Given the description of an element on the screen output the (x, y) to click on. 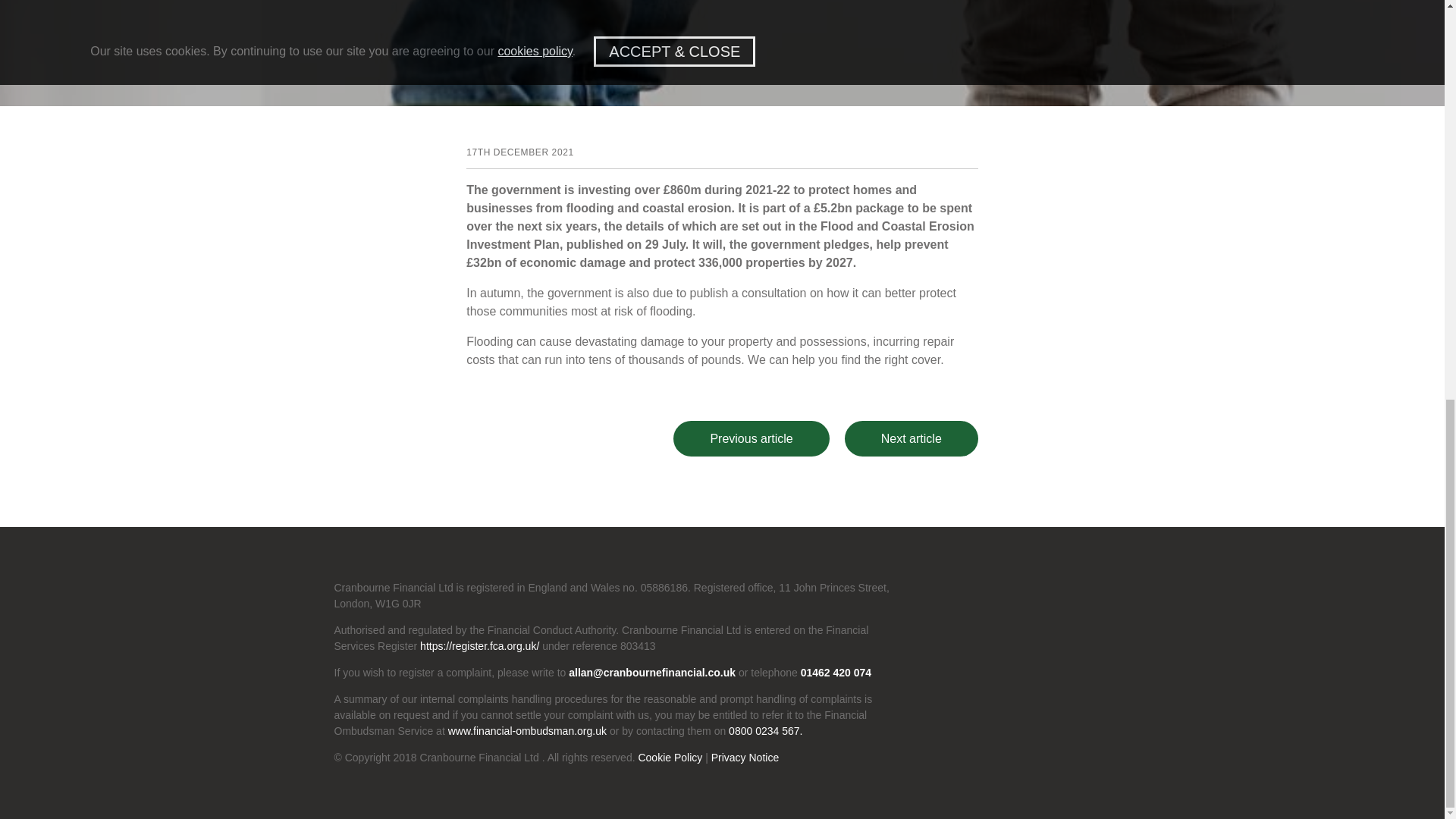
Next article (911, 438)
Privacy Notice (744, 757)
0800 0234 567. (765, 730)
www.financial-ombudsman.org.uk (527, 730)
 01462 420 074 (833, 672)
Cookie Policy (669, 757)
Previous article (750, 438)
